Given the description of an element on the screen output the (x, y) to click on. 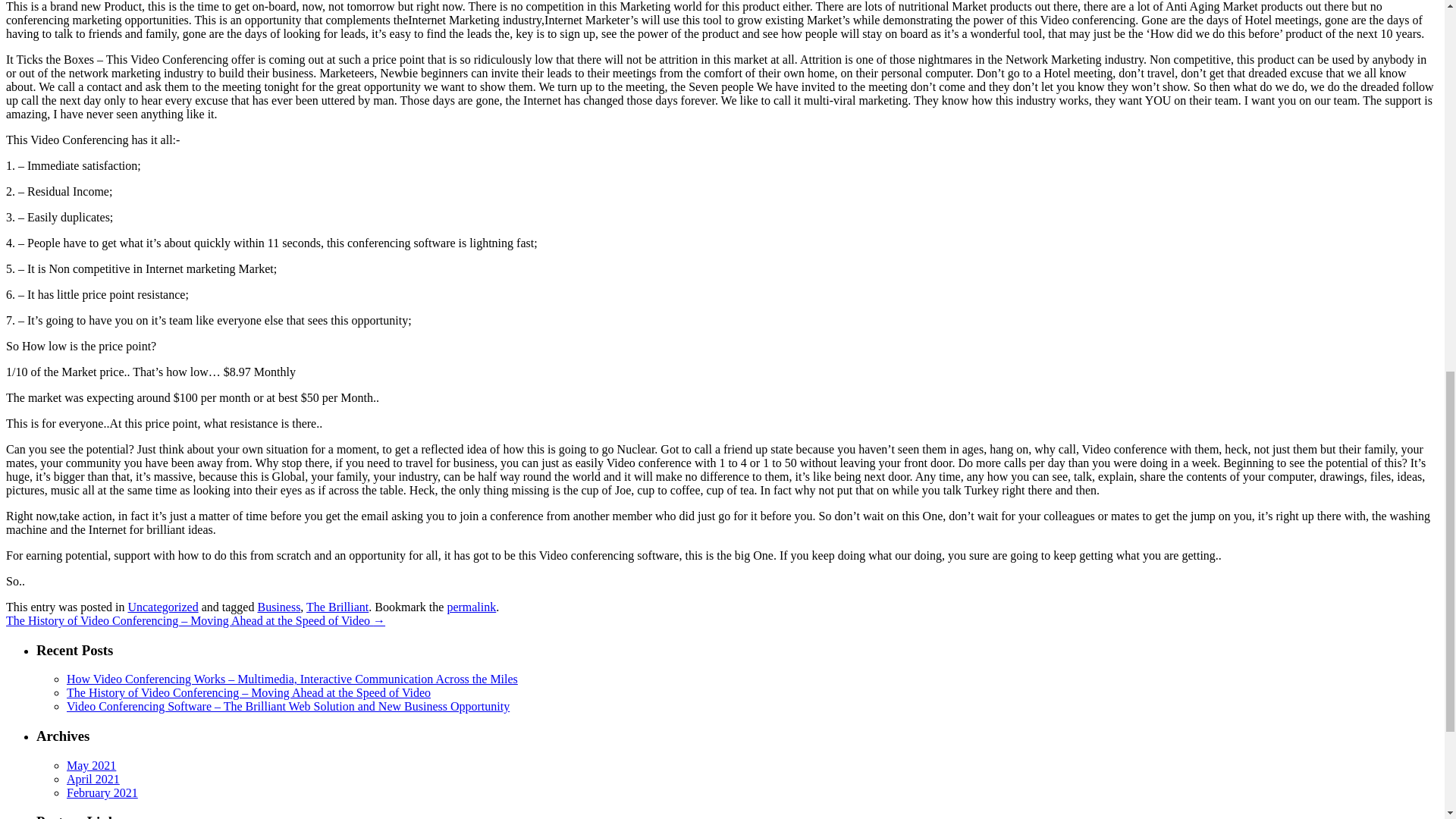
permalink (471, 606)
The Brilliant (336, 606)
May 2021 (91, 765)
View all posts in Uncategorized (163, 606)
Business (278, 606)
February 2021 (102, 792)
April 2021 (92, 779)
Uncategorized (163, 606)
